Given the description of an element on the screen output the (x, y) to click on. 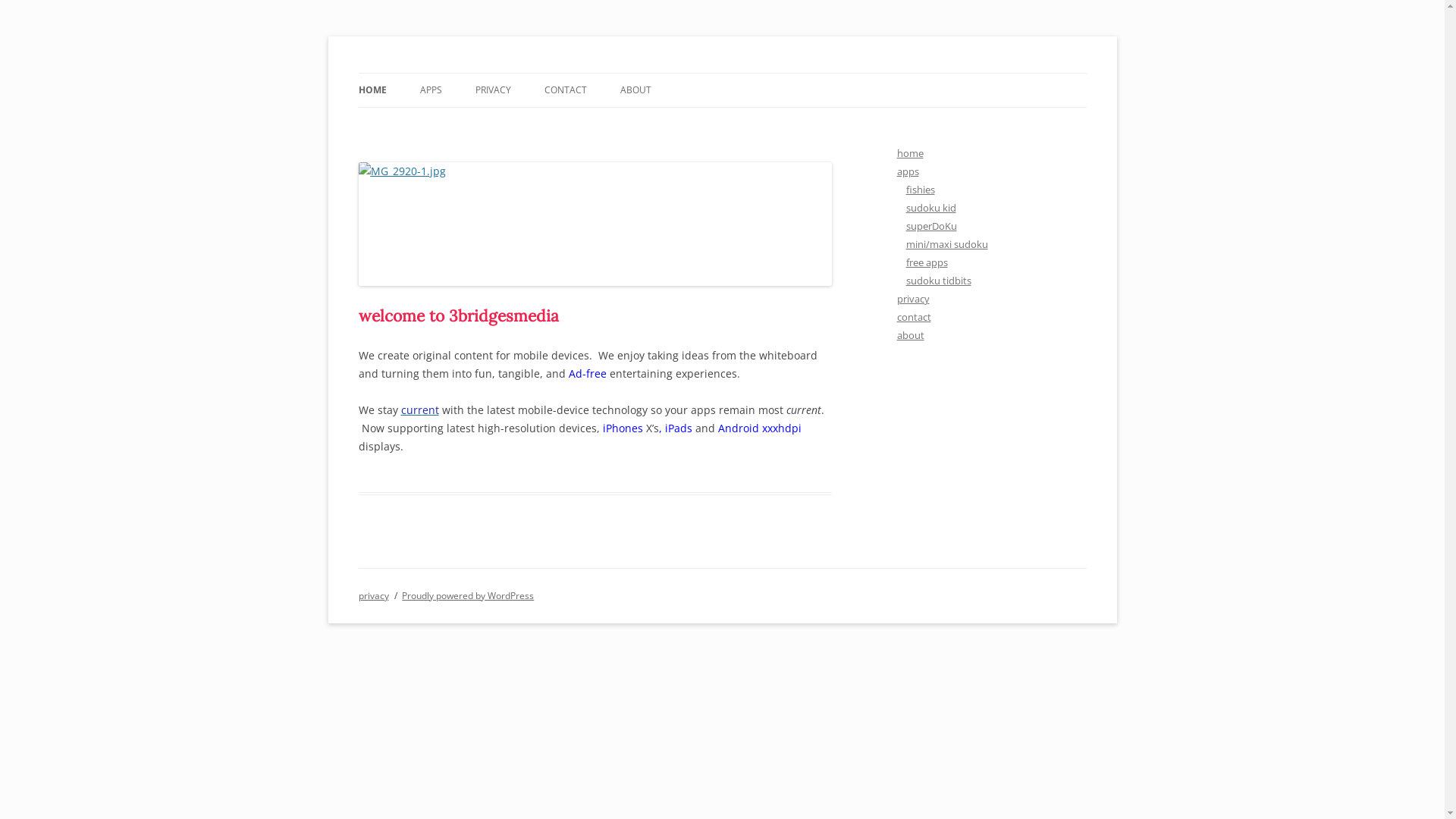
privacy Element type: text (372, 595)
Skip to content Element type: text (721, 72)
Best Sudoku Fishies SuperDoKu Kid Sudoku | 3BridgesMedia Element type: text (634, 72)
CONTACT Element type: text (565, 89)
fishies Element type: text (919, 189)
Proudly powered by WordPress Element type: text (467, 595)
FISHIES Element type: text (495, 122)
HOME Element type: text (371, 89)
sudoku kid Element type: text (930, 207)
free apps Element type: text (926, 262)
sudoku tidbits Element type: text (937, 280)
apps Element type: text (907, 171)
about Element type: text (909, 335)
superDoKu Element type: text (930, 225)
contact Element type: text (913, 316)
home Element type: text (909, 153)
current Element type: text (419, 409)
PRIVACY Element type: text (492, 89)
ABOUT Element type: text (635, 89)
mini/maxi sudoku Element type: text (946, 244)
privacy Element type: text (912, 298)
APPS Element type: text (431, 89)
